Given the description of an element on the screen output the (x, y) to click on. 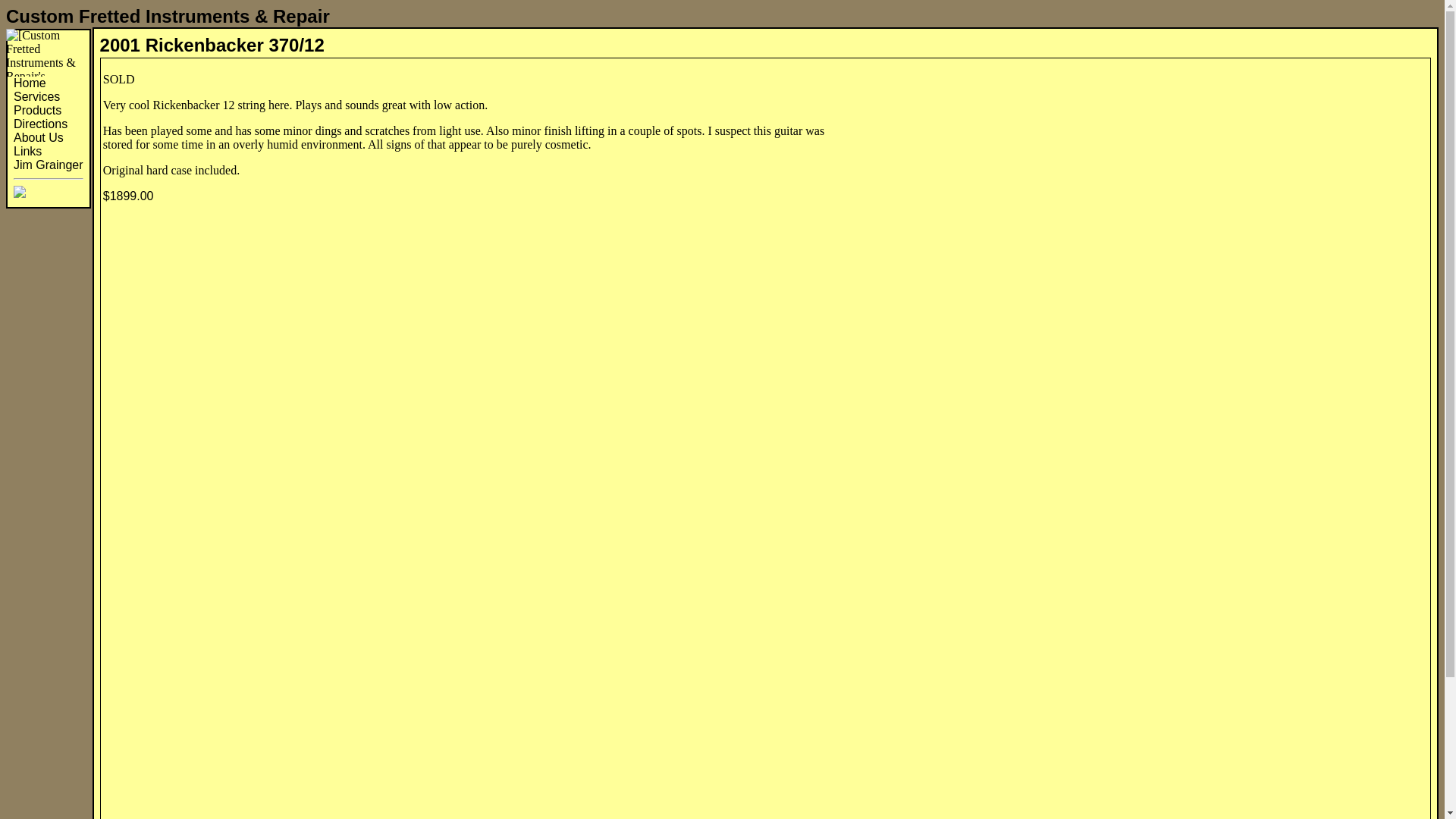
Jim Grainger (47, 164)
About Us (38, 137)
Directions (39, 123)
Home (29, 82)
Services (36, 96)
Products (37, 110)
Links (27, 151)
